Given the description of an element on the screen output the (x, y) to click on. 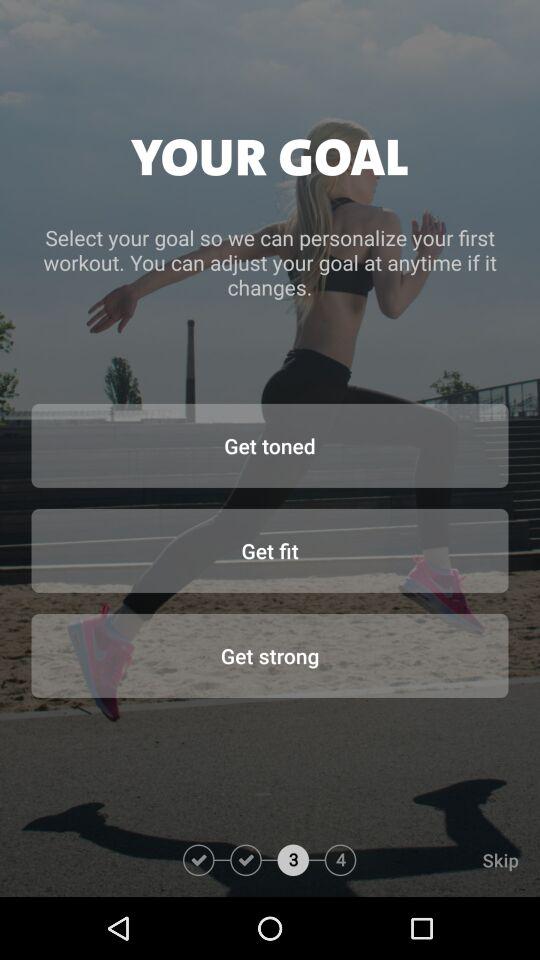
open icon above get strong icon (269, 550)
